Given the description of an element on the screen output the (x, y) to click on. 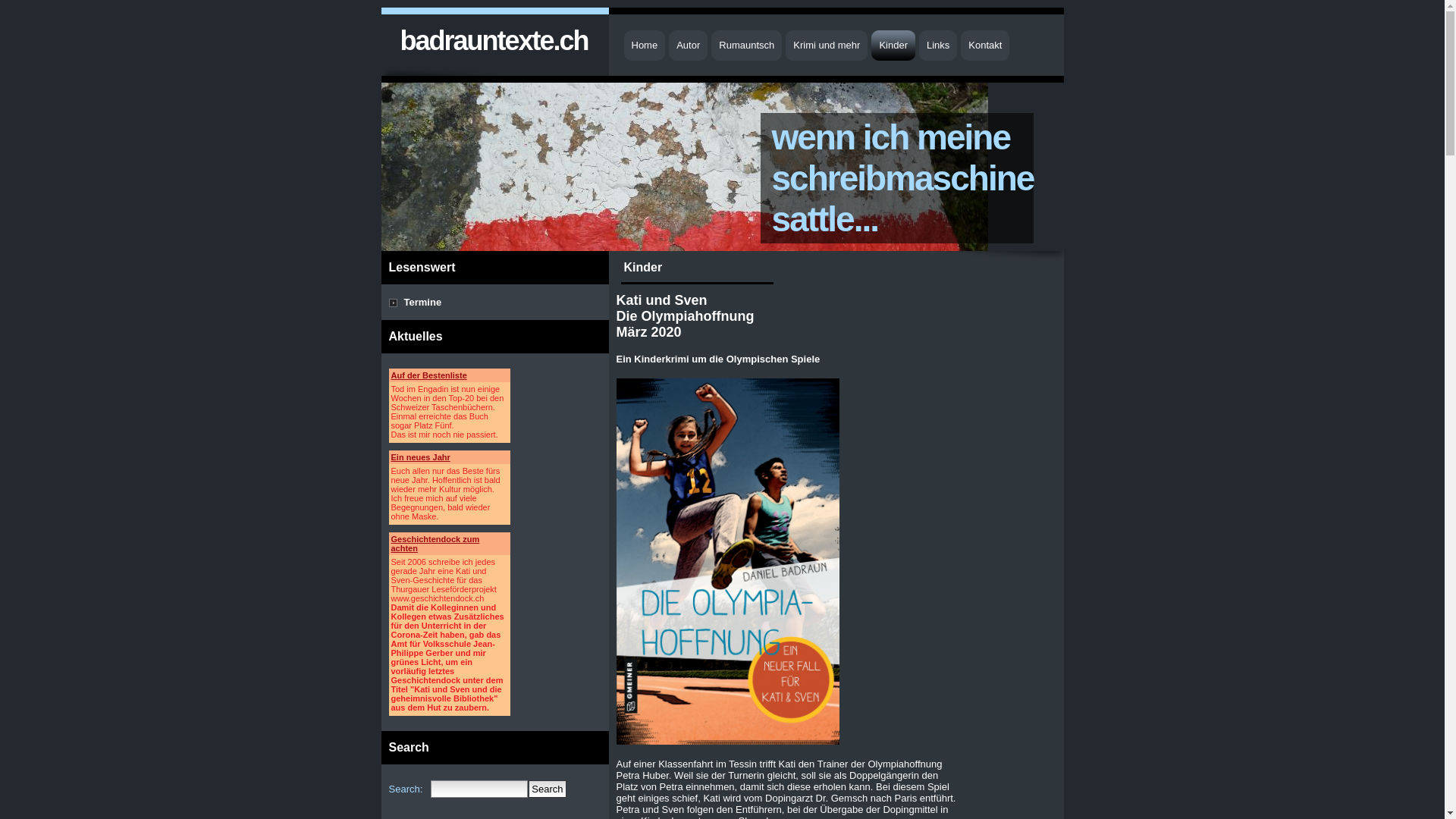
Rumauntsch Element type: text (746, 45)
Termine Element type: text (494, 301)
Kontakt Element type: text (984, 45)
Search Element type: text (546, 788)
www.geschichtendock.ch Element type: text (449, 597)
Krimi und mehr Element type: text (826, 45)
Geschichtendock zum achten Element type: text (449, 543)
Links Element type: text (938, 45)
Ein neues Jahr Element type: text (449, 456)
Autor Element type: text (687, 45)
Kinder Element type: text (893, 45)
Auf der Bestenliste Element type: text (449, 374)
Home Element type: text (644, 45)
